Given the description of an element on the screen output the (x, y) to click on. 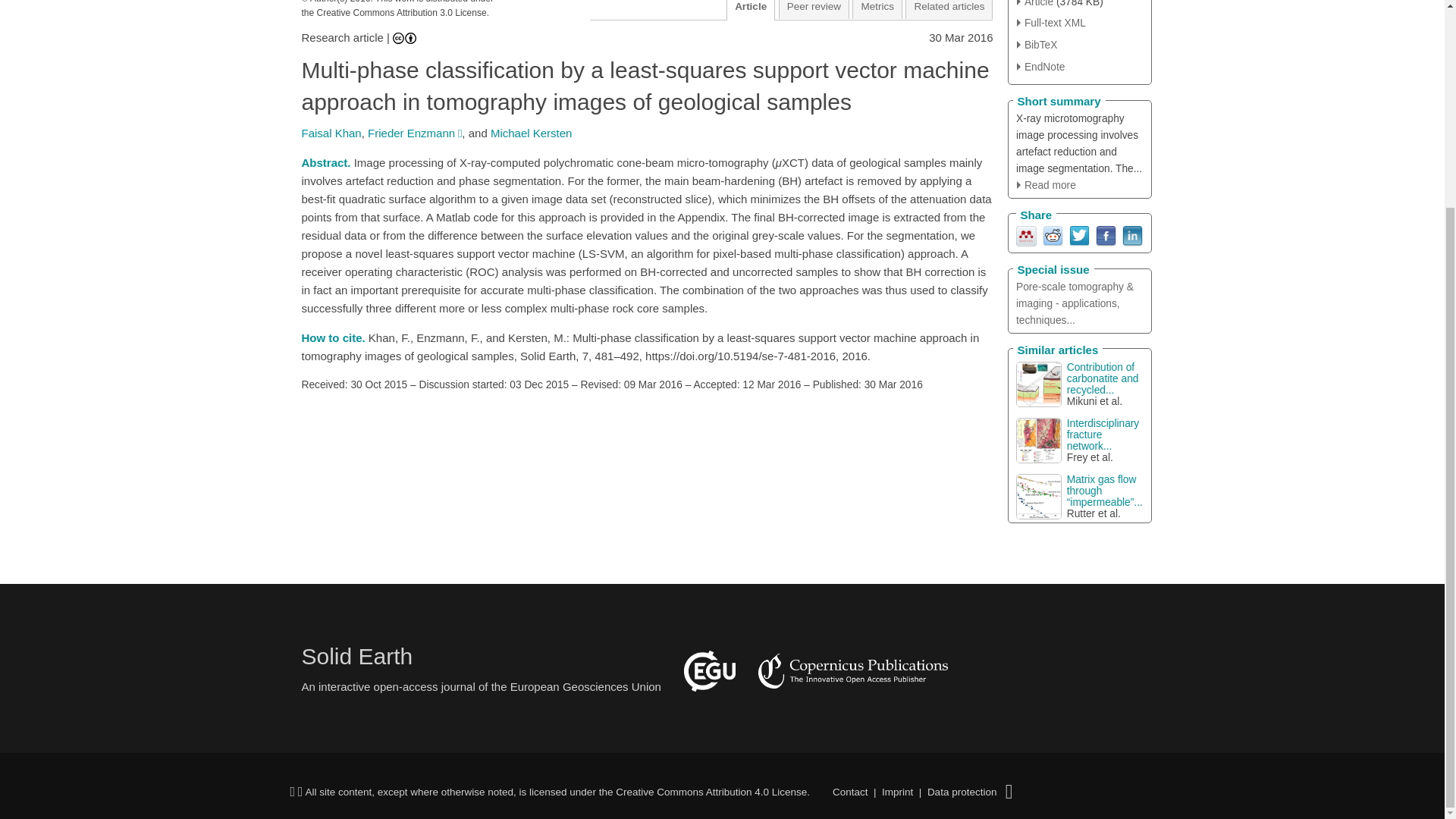
Reddit (1052, 235)
Twitter (1078, 235)
Mendeley (1026, 235)
XML Version (1051, 22)
